Given the description of an element on the screen output the (x, y) to click on. 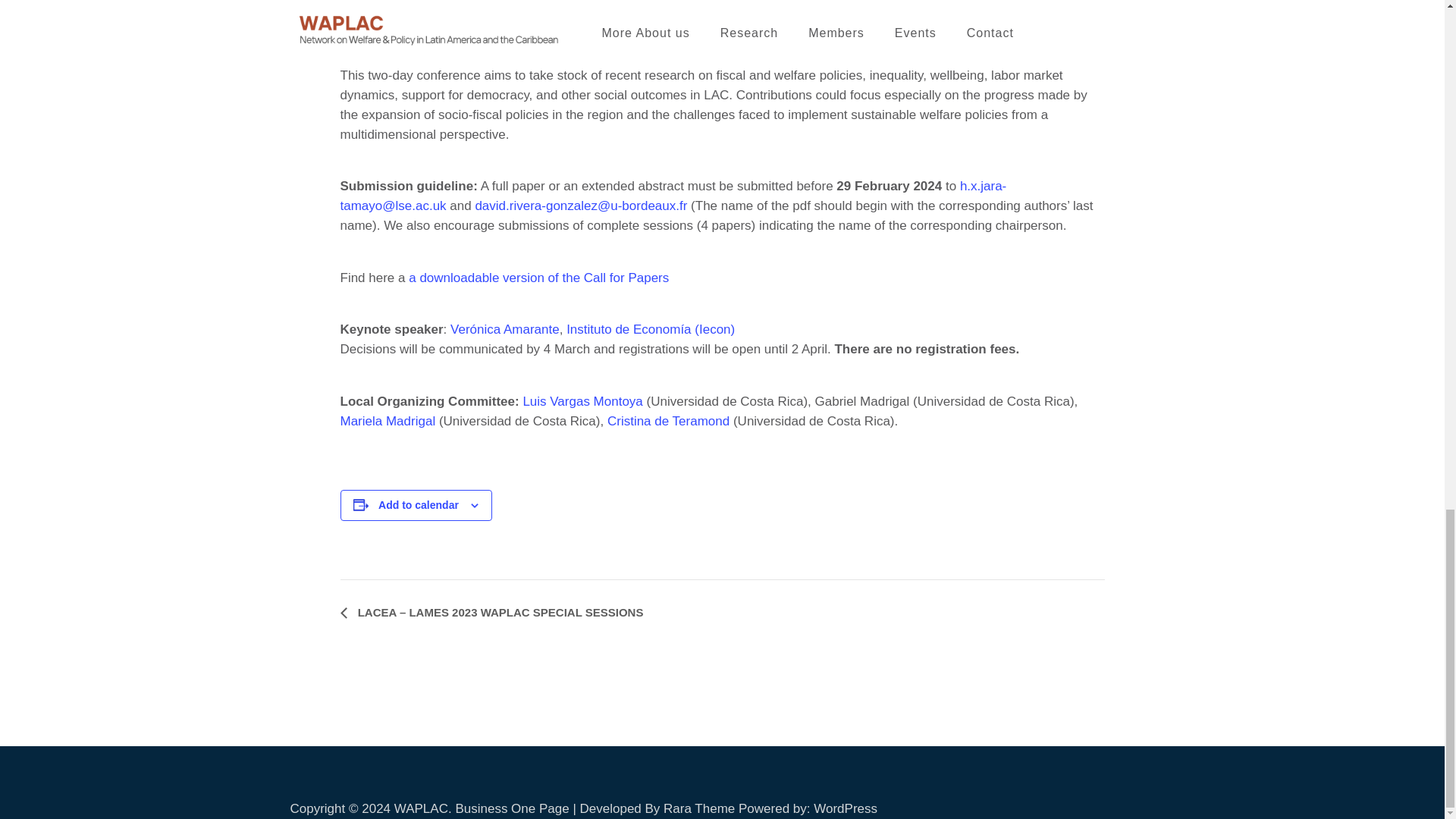
Luis Vargas Montoya (582, 400)
University of Costa Rica (960, 5)
Add to calendar (418, 504)
Mariela Madrigal (387, 421)
Scroll (1341, 787)
a downloadable version of the Call for Papers (538, 278)
Cristina de Teramond (668, 421)
